Given the description of an element on the screen output the (x, y) to click on. 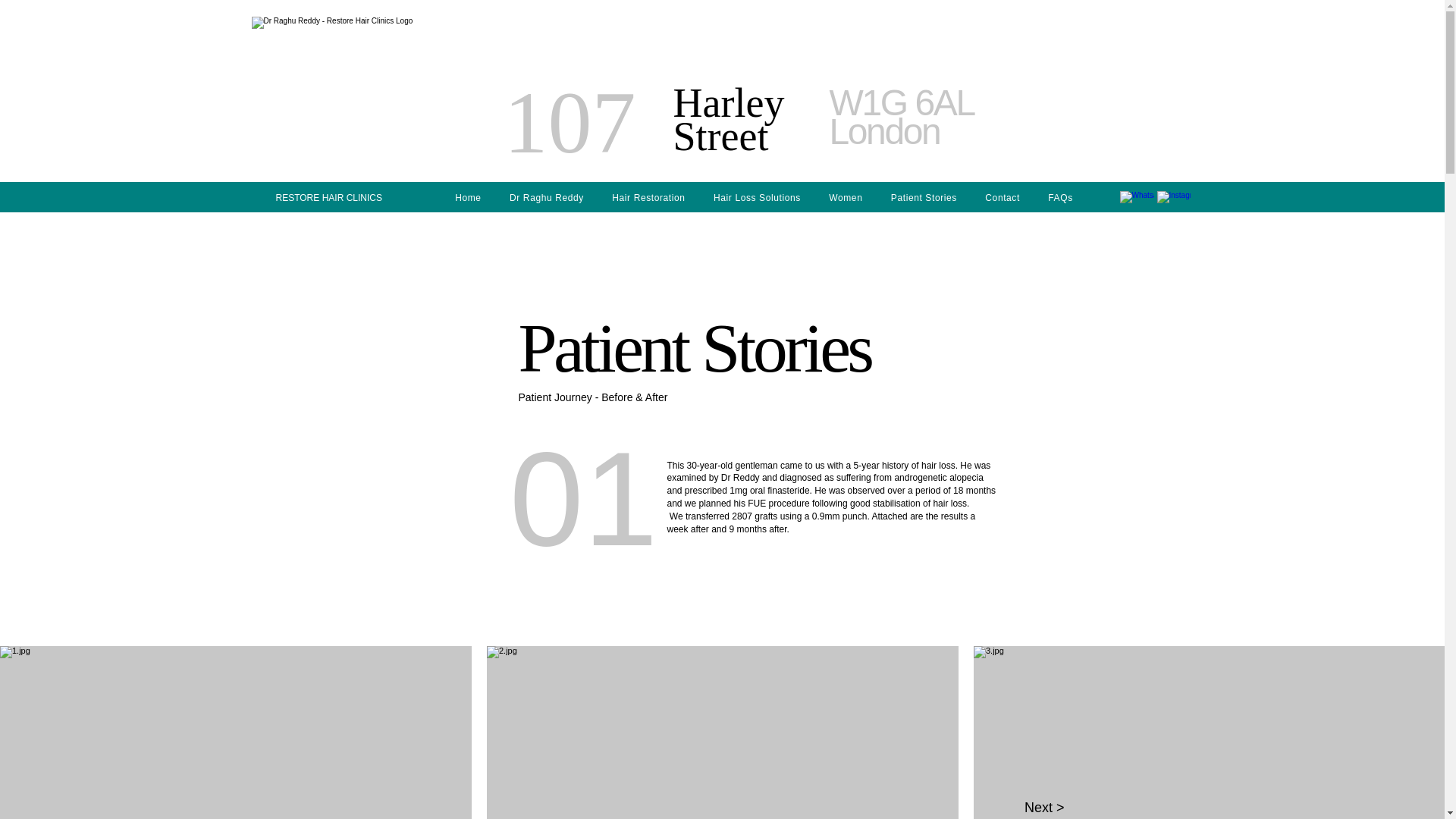
107 (901, 116)
Home (568, 121)
Hair Loss Solutions (468, 197)
Dr Raghu Reddy (755, 197)
Women (545, 197)
Patient Stories (728, 118)
Hair Restoration (846, 197)
